Given the description of an element on the screen output the (x, y) to click on. 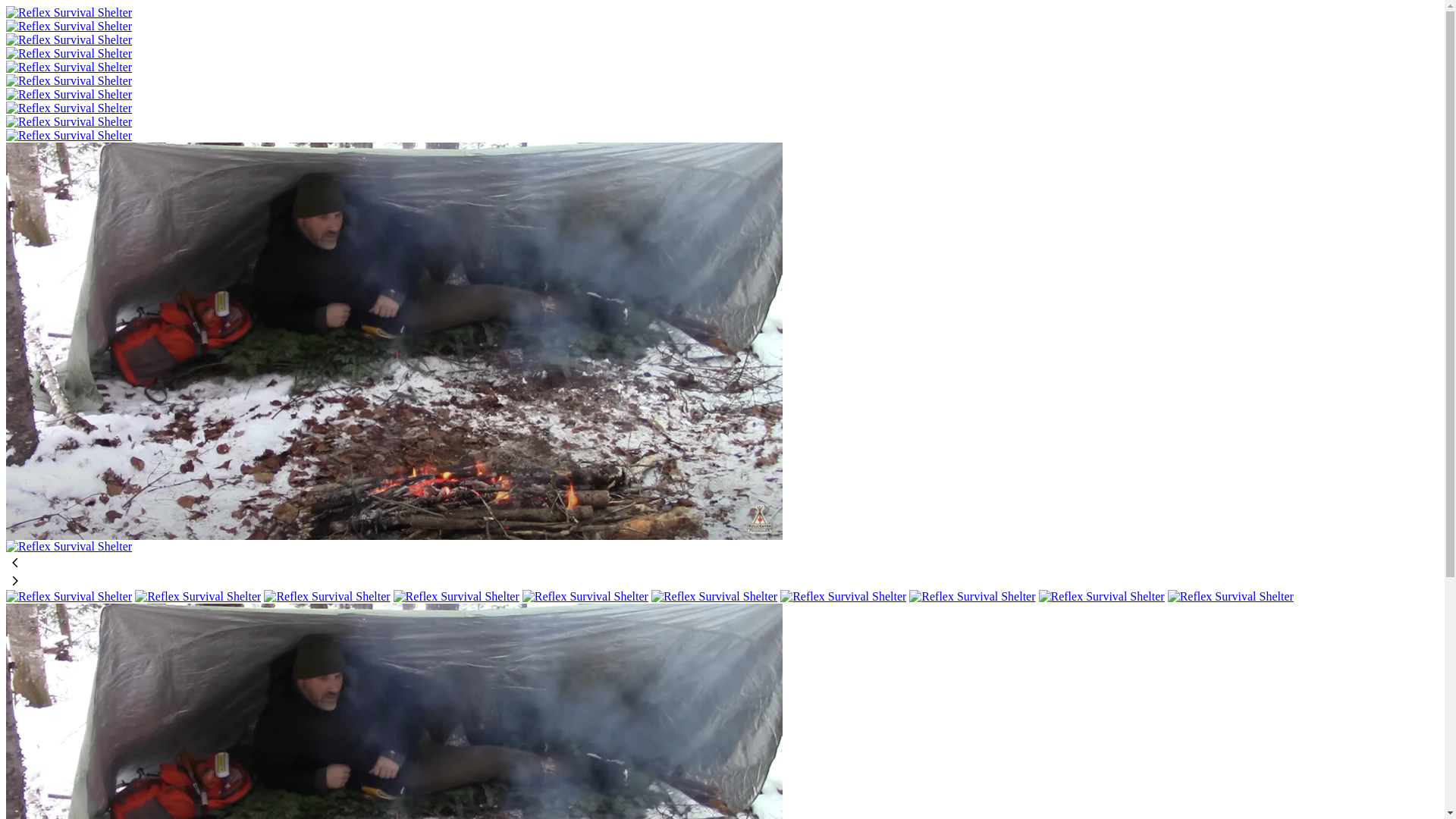
Reflex Survival Shelter Element type: hover (68, 134)
Reflex Survival Shelter Element type: hover (68, 25)
Reflex Survival Shelter Element type: hover (68, 545)
Reflex Survival Shelter Element type: hover (68, 107)
Reflex Survival Shelter Element type: hover (68, 53)
Reflex Survival Shelter Element type: hover (68, 80)
Reflex Survival Shelter Element type: hover (68, 39)
Reflex Survival Shelter Element type: hover (68, 66)
Reflex Survival Shelter Element type: hover (394, 535)
Reflex Survival Shelter Element type: hover (68, 121)
Reflex Survival Shelter Element type: hover (68, 12)
Reflex Survival Shelter Element type: hover (68, 93)
